Given the description of an element on the screen output the (x, y) to click on. 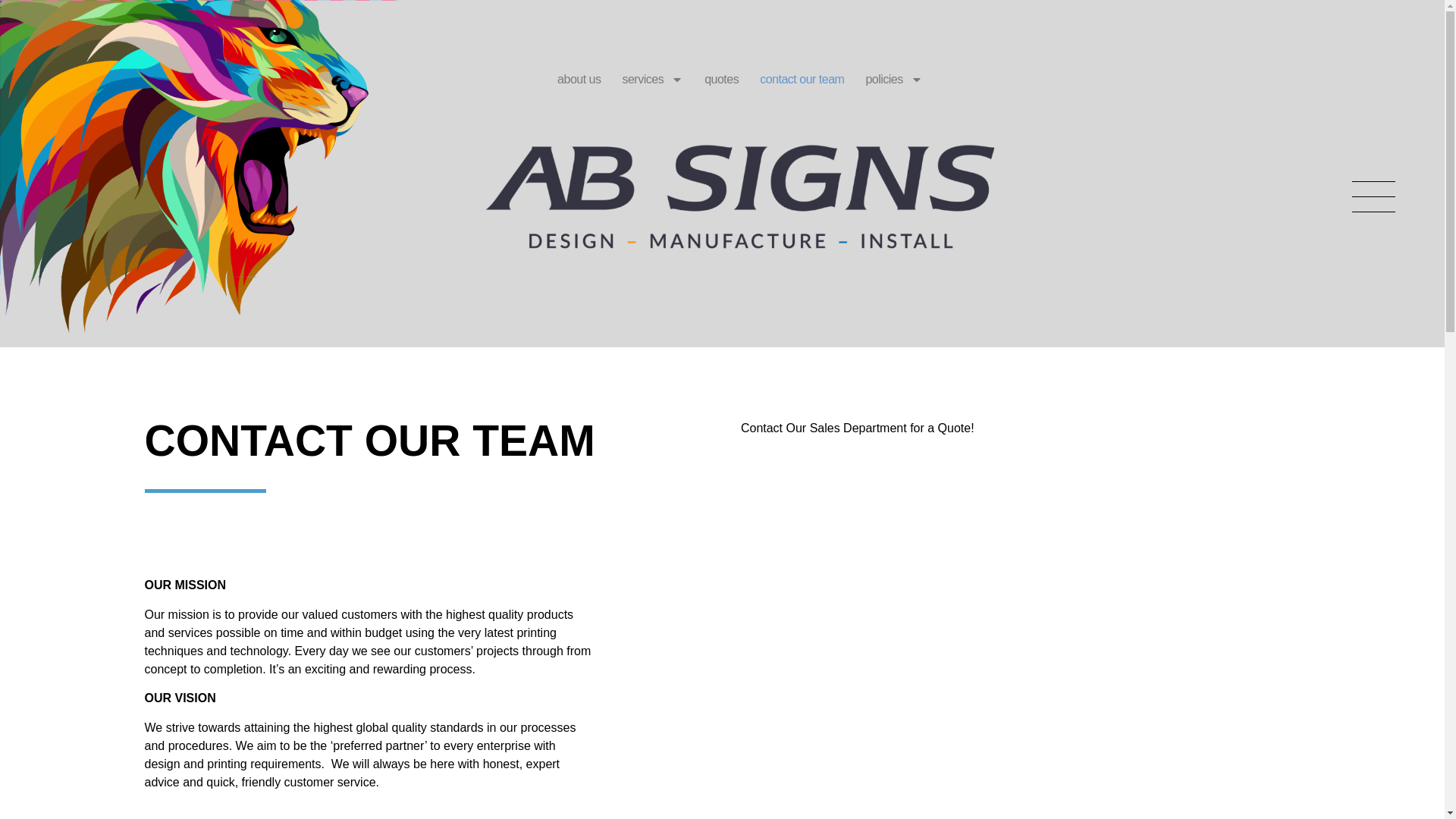
quotes (721, 79)
services (652, 79)
policies (893, 79)
Unit W3a, Newhall, Naas, Co. Contae Chill Dara (970, 697)
contact our team (801, 79)
about us (579, 79)
